Given the description of an element on the screen output the (x, y) to click on. 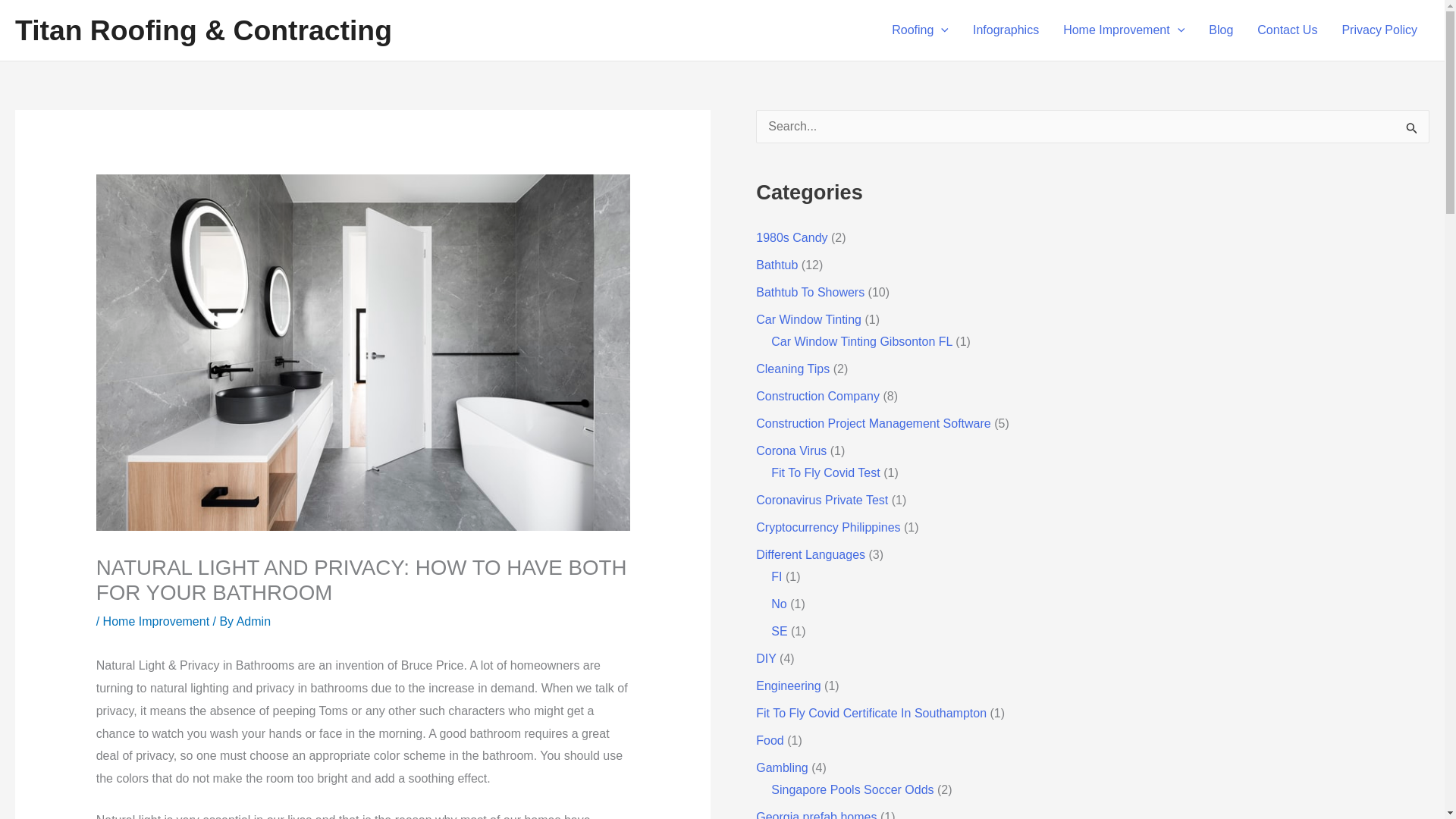
Bathtub (776, 264)
Infographics (1005, 30)
Car Window Tinting Gibsonton FL (861, 341)
Contact Us (1286, 30)
Cleaning Tips (792, 368)
View all posts by Admin (252, 621)
Roofing (919, 30)
Construction Company (817, 395)
Home Improvement (156, 621)
Privacy Policy (1379, 30)
